Given the description of an element on the screen output the (x, y) to click on. 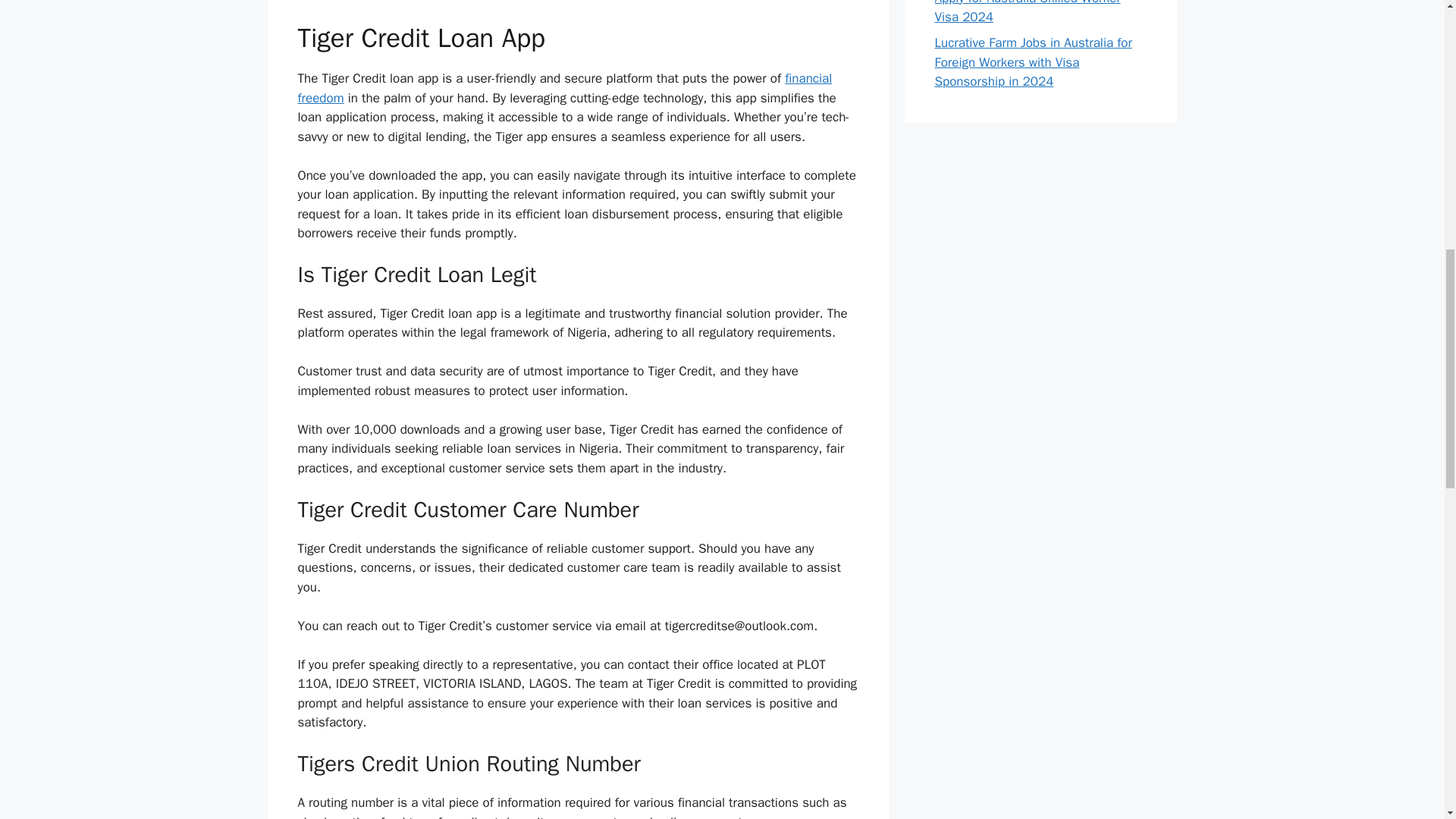
Scroll back to top (1406, 720)
Apply for Australia Skilled Worker Visa 2024 (1026, 12)
financial freedom (564, 88)
